Given the description of an element on the screen output the (x, y) to click on. 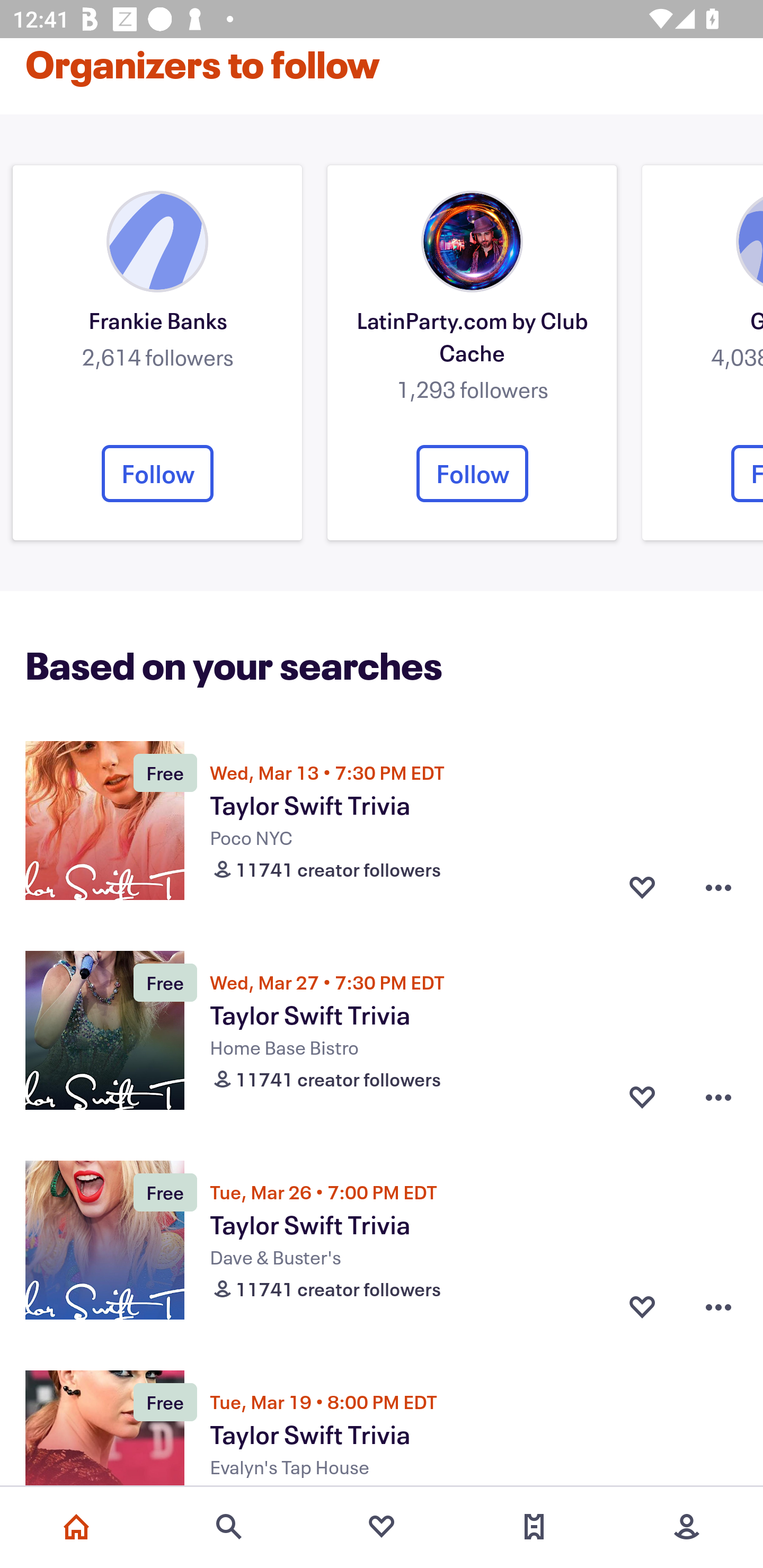
Follow Organizer's follow button (157, 473)
Follow Organizer's follow button (471, 473)
Favorite button (642, 887)
Overflow menu button (718, 887)
Favorite button (642, 1097)
Overflow menu button (718, 1097)
Favorite button (642, 1306)
Overflow menu button (718, 1306)
Home (76, 1526)
Search events (228, 1526)
Favorites (381, 1526)
Tickets (533, 1526)
More (686, 1526)
